Given the description of an element on the screen output the (x, y) to click on. 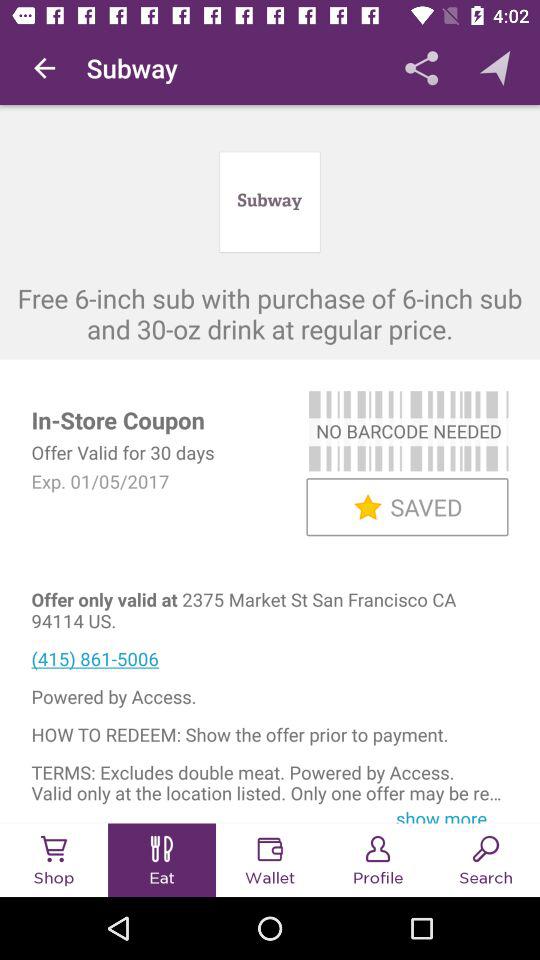
click show more... item (448, 814)
